Given the description of an element on the screen output the (x, y) to click on. 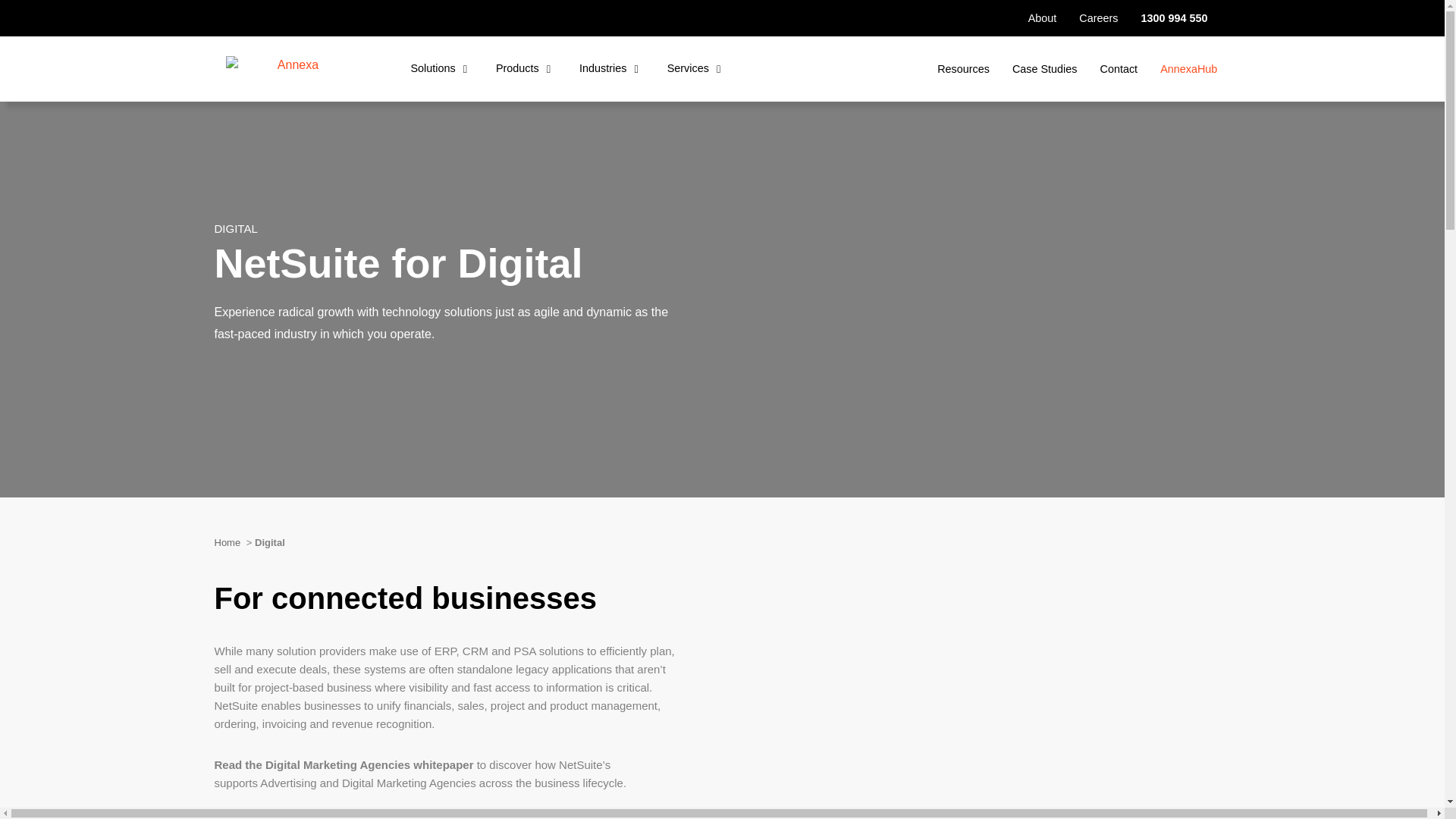
About (1042, 17)
Solutions (438, 69)
Careers (1098, 17)
1300 994 550 (1173, 17)
